Given the description of an element on the screen output the (x, y) to click on. 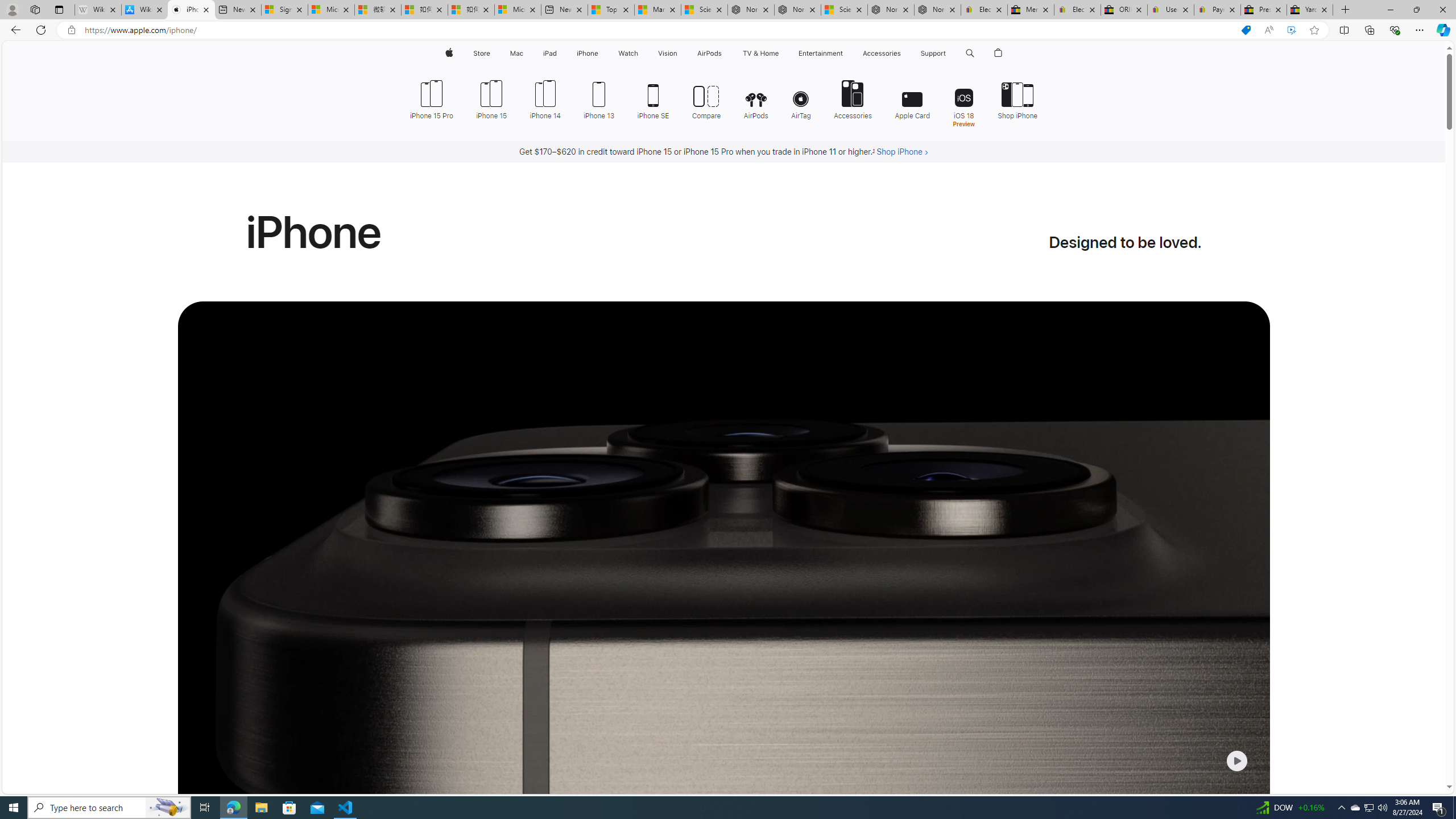
iPhone 15 (491, 98)
AirTag (800, 98)
Entertainment menu (844, 53)
Apple Card (912, 98)
iOS 18 Preview (963, 101)
Compare (705, 98)
iPad (550, 53)
iPhone SE (653, 98)
